Given the description of an element on the screen output the (x, y) to click on. 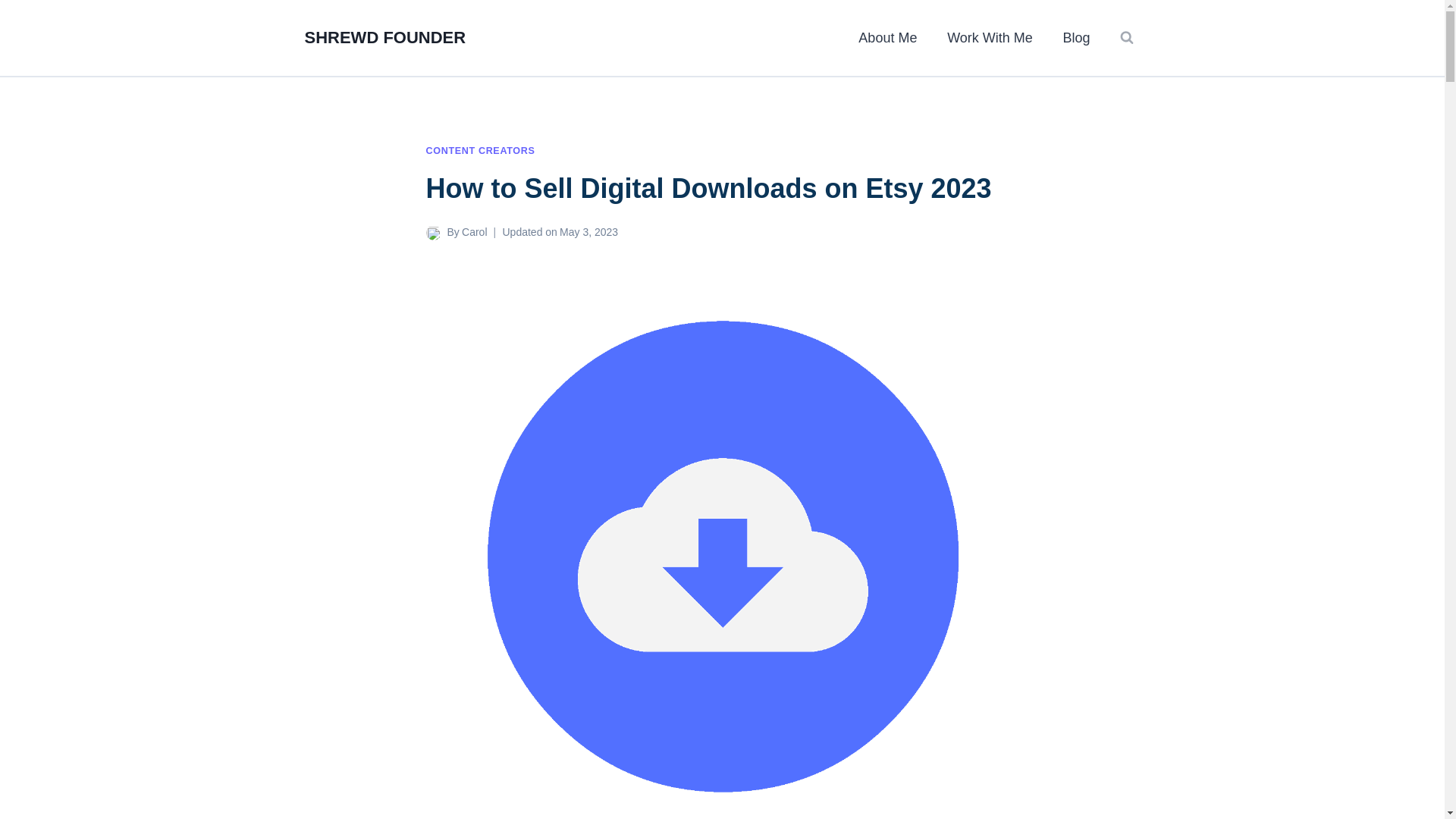
Blog (1076, 37)
CONTENT CREATORS (480, 150)
SHREWD FOUNDER (384, 37)
About Me (887, 37)
Work With Me (988, 37)
Carol (473, 232)
